Given the description of an element on the screen output the (x, y) to click on. 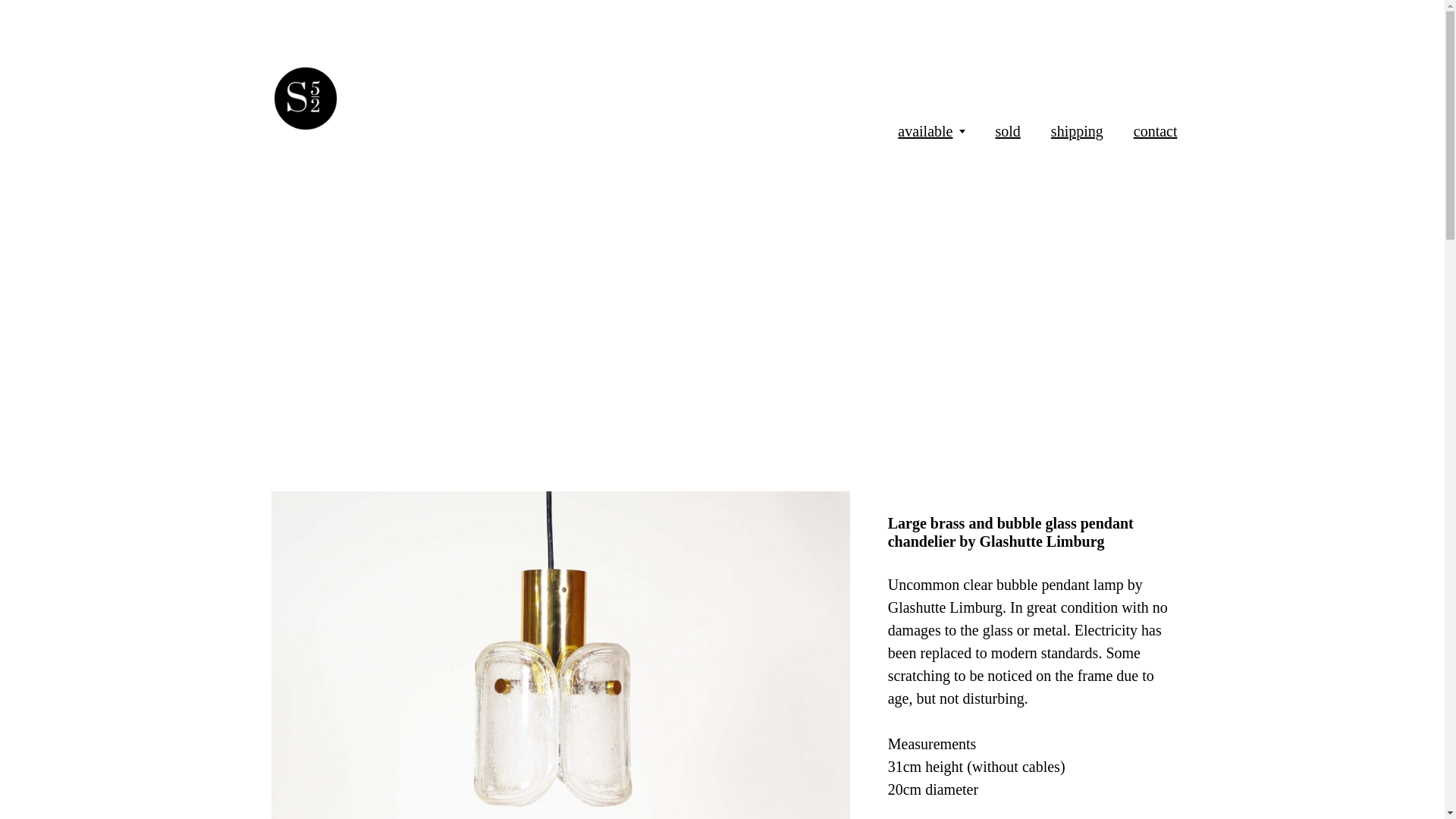
available (925, 130)
contact (1155, 130)
sold (1007, 130)
shipping (1077, 130)
Spoor52 (425, 98)
